Given the description of an element on the screen output the (x, y) to click on. 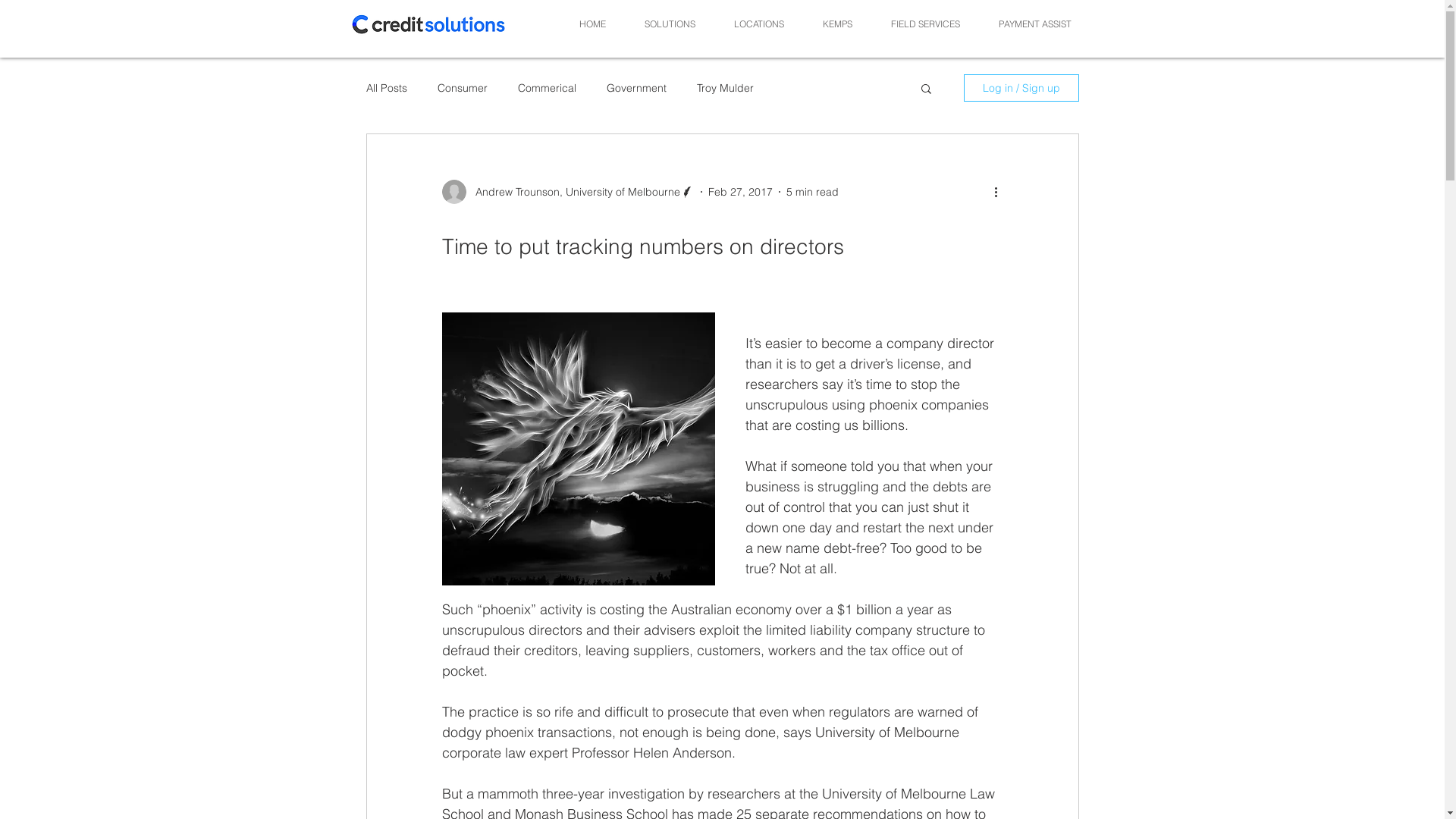
SOLUTIONS Element type: text (669, 24)
Troy Mulder Element type: text (724, 87)
All Posts Element type: text (385, 87)
Government Element type: text (636, 87)
HOME Element type: text (591, 24)
KEMPS Element type: text (837, 24)
FIELD SERVICES Element type: text (925, 24)
Commerical Element type: text (546, 87)
Log in / Sign up Element type: text (1020, 87)
PAYMENT ASSIST Element type: text (1035, 24)
Consumer Element type: text (461, 87)
